Given the description of an element on the screen output the (x, y) to click on. 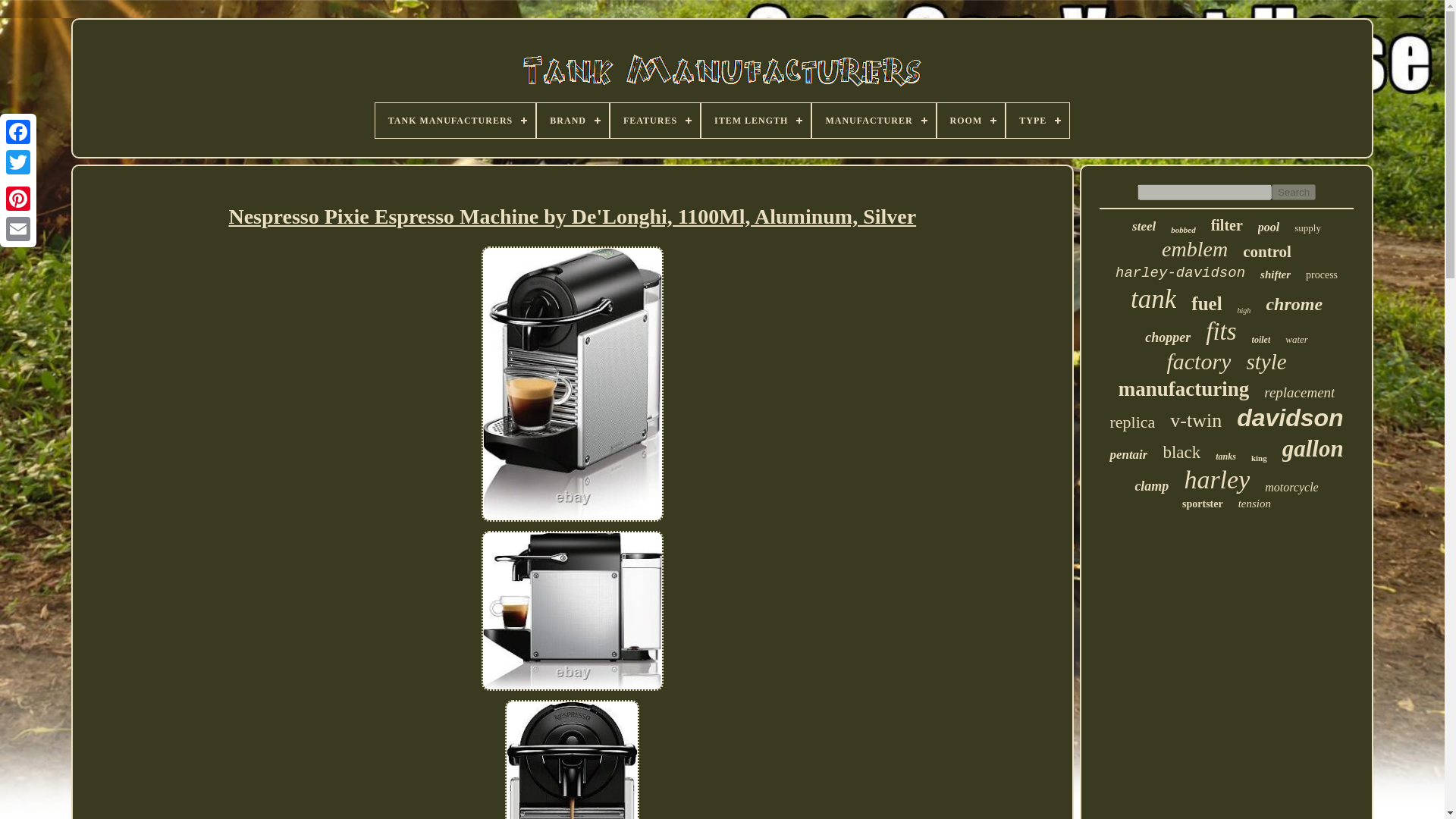
ITEM LENGTH (755, 120)
FEATURES (655, 120)
TANK MANUFACTURERS (455, 120)
BRAND (572, 120)
Search (1293, 191)
